Given the description of an element on the screen output the (x, y) to click on. 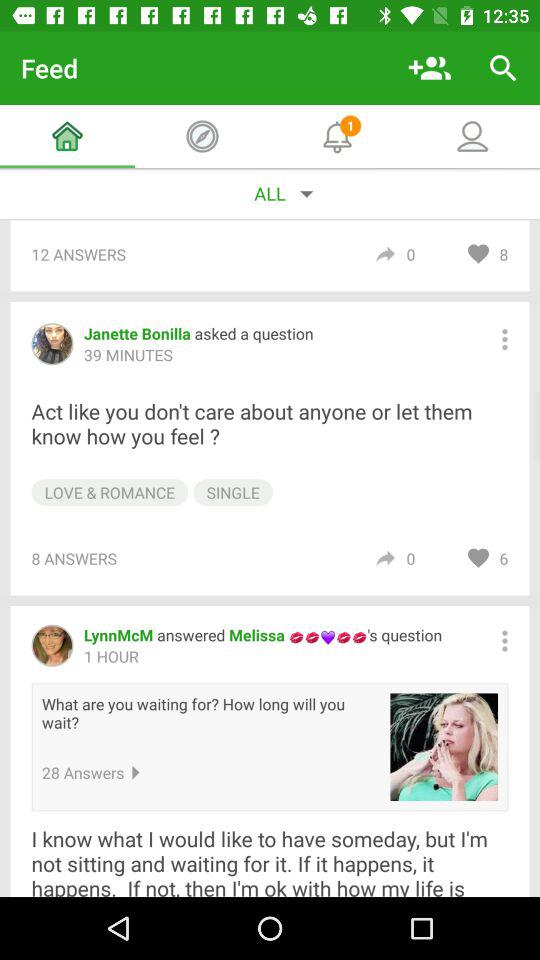
gif (444, 747)
